Given the description of an element on the screen output the (x, y) to click on. 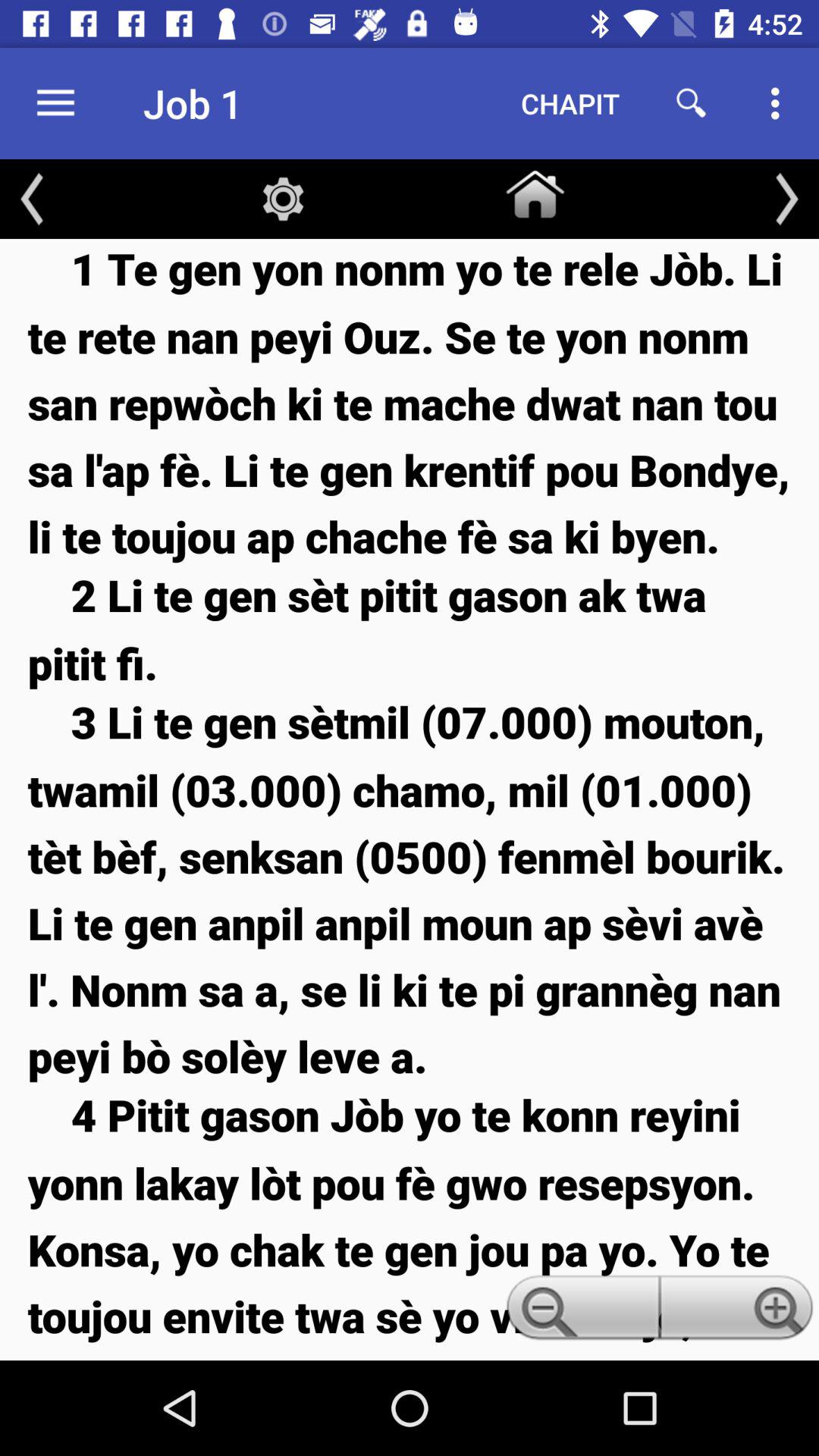
turn on the item above the 1 te gen (283, 198)
